Given the description of an element on the screen output the (x, y) to click on. 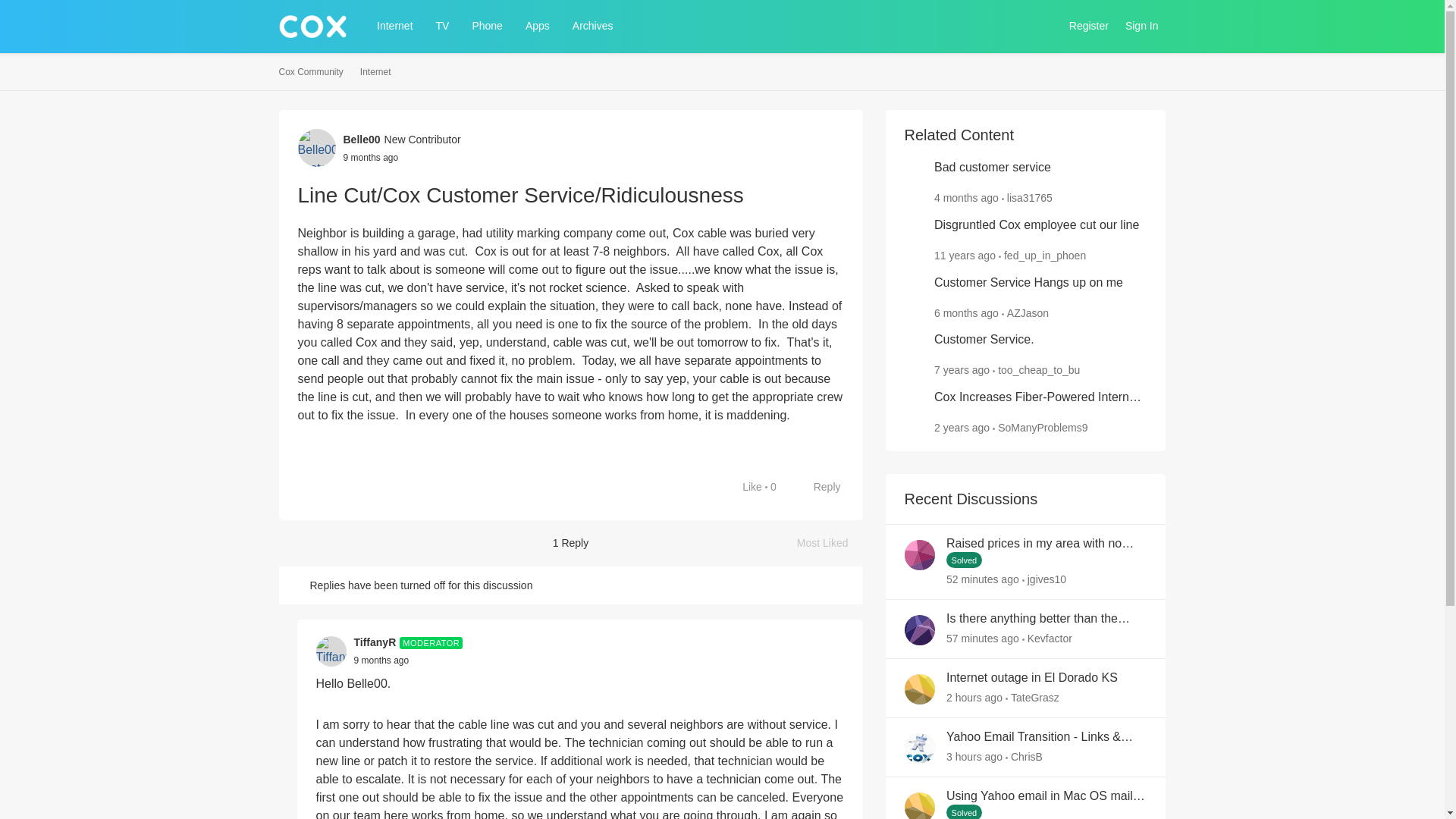
TiffanyR (374, 642)
Customer Service. (983, 340)
Bad customer service (992, 167)
TV (442, 26)
9 months ago (381, 660)
lisa31765 (1028, 197)
Customer Service Hangs up on me (1028, 283)
Sign In (1142, 26)
Skip to content (329, 60)
Internet (394, 26)
Raised prices in my area with no alert (1046, 544)
Archives (592, 26)
Is there anything better than the Asus surfboard modem? (829, 543)
Like (1046, 618)
